Given the description of an element on the screen output the (x, y) to click on. 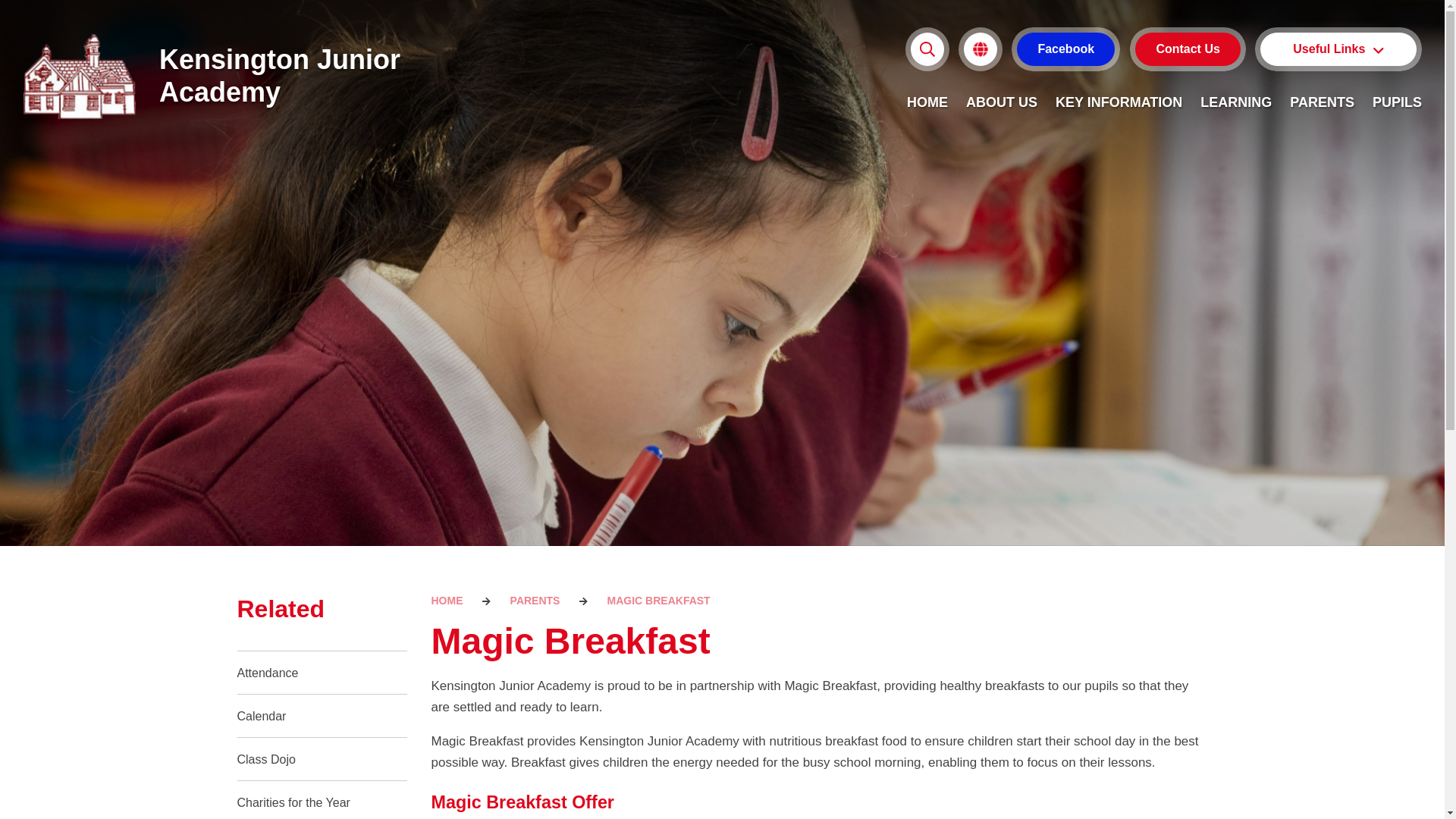
Search (871, 49)
Contact Us (1187, 49)
HOME (927, 102)
Who's Who (1338, 214)
School Meals (1338, 173)
ABOUT US (1001, 102)
Admissions (1338, 132)
Useful Links (1338, 49)
Facebook (1065, 49)
Prospectus (1338, 91)
Term Dates (1338, 256)
Kensington Junior Academy (213, 75)
